Given the description of an element on the screen output the (x, y) to click on. 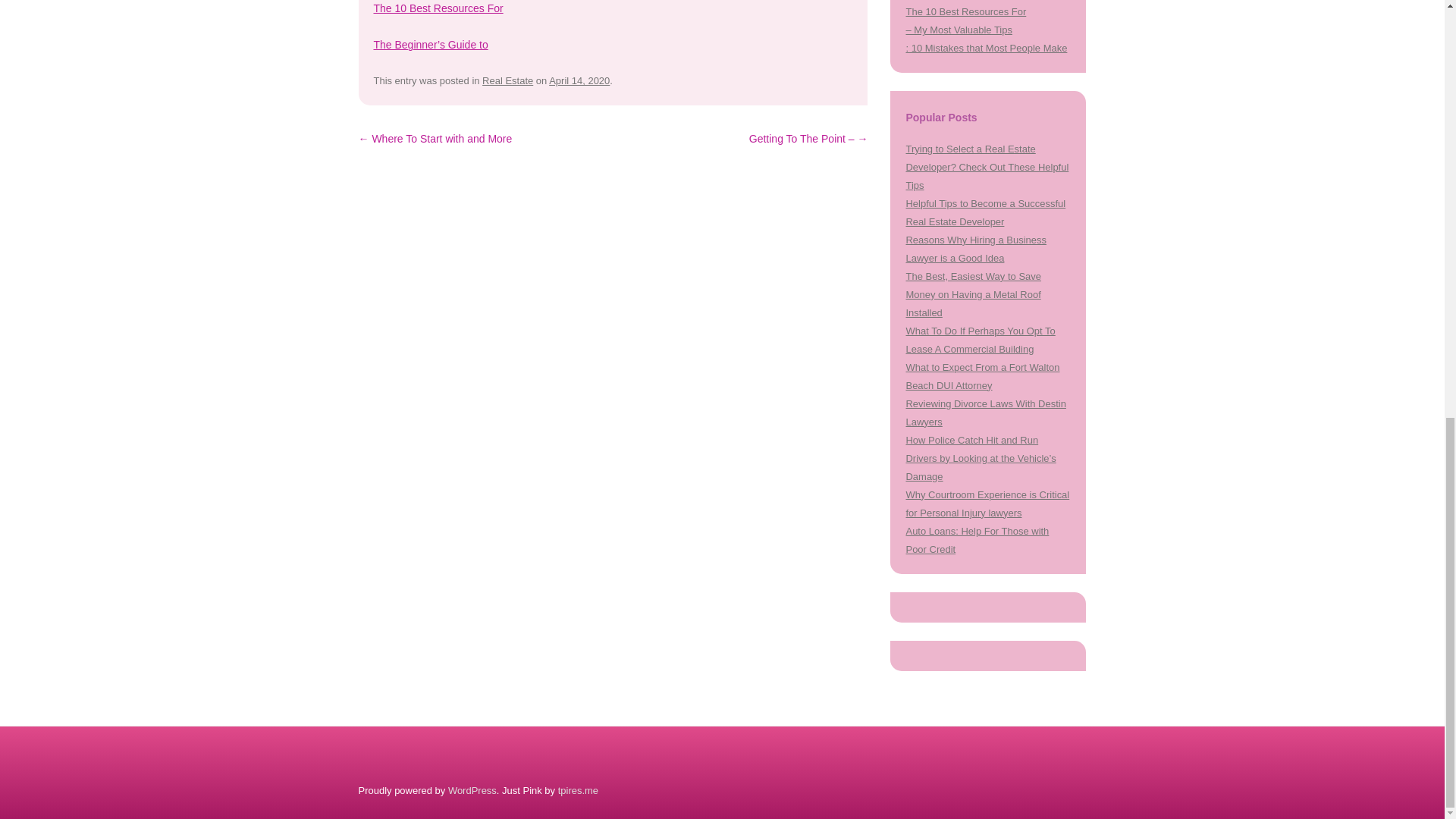
April 14, 2020 (579, 80)
What to Expect From a Fort Walton Beach DUI Attorney (982, 376)
Auto Loans: Help For Those with Poor Credit (976, 540)
Helpful Tips to Become a Successful Real Estate Developer (985, 212)
Reviewing Divorce Laws With Destin Lawyers (985, 412)
6:15 pm (579, 80)
Real Estate (506, 80)
The 10 Best Resources For (437, 8)
Reasons Why Hiring a Business Lawyer is a Good Idea (975, 248)
Semantic Personal Publishing Platform (472, 790)
What To Do If Perhaps You Opt To Lease A Commercial Building (979, 339)
